Given the description of an element on the screen output the (x, y) to click on. 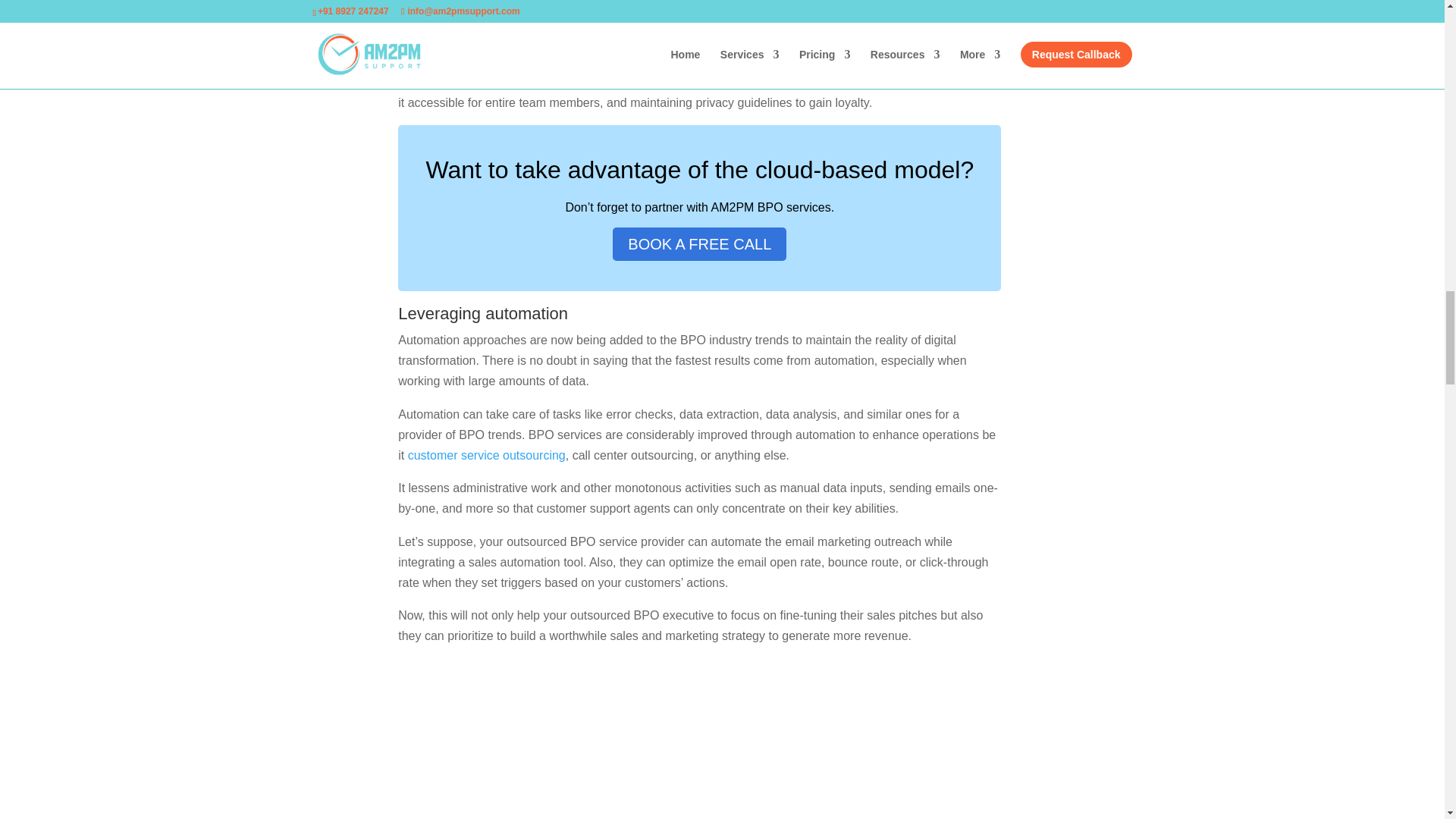
5 Benefits of Automation (699, 738)
BOOK A FREE CALL (699, 244)
customer service outsourcing (486, 454)
personalized customer service (899, 28)
